Given the description of an element on the screen output the (x, y) to click on. 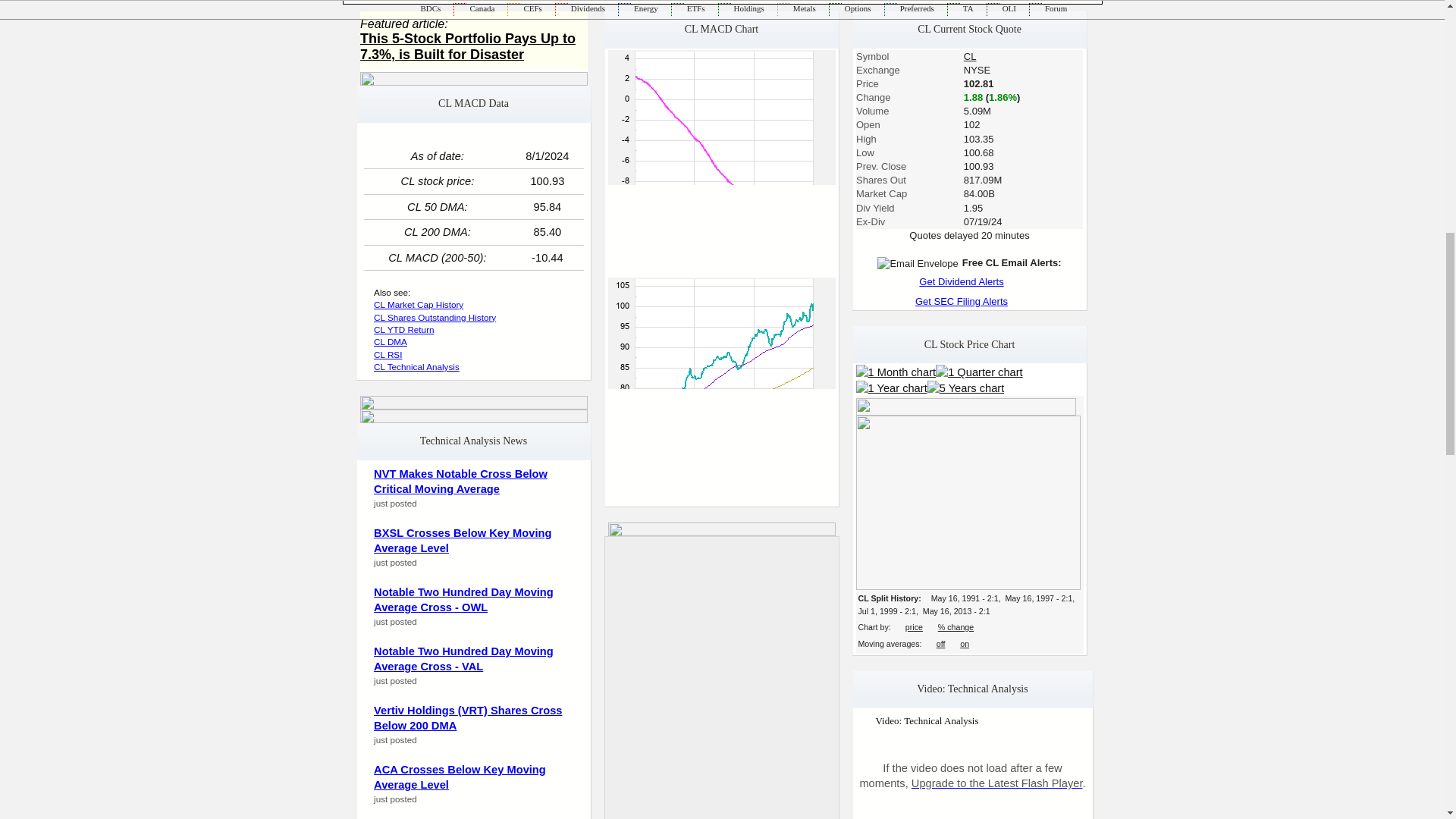
CL RSI (387, 354)
ACA Crosses Below Key Moving Average Level (460, 777)
CL Market Cap History (418, 304)
BXSL Crosses Below Key Moving Average Level (462, 541)
Notable Two Hundred Day Moving Average Cross - OWL (463, 600)
CL YTD Return (403, 329)
NVT Makes Notable Cross Below Critical Moving Average (460, 481)
CL Technical Analysis (417, 366)
CL DMA (390, 341)
Notable Two Hundred Day Moving Average Cross - VAL (463, 659)
CL Shares Outstanding History (435, 317)
